Given the description of an element on the screen output the (x, y) to click on. 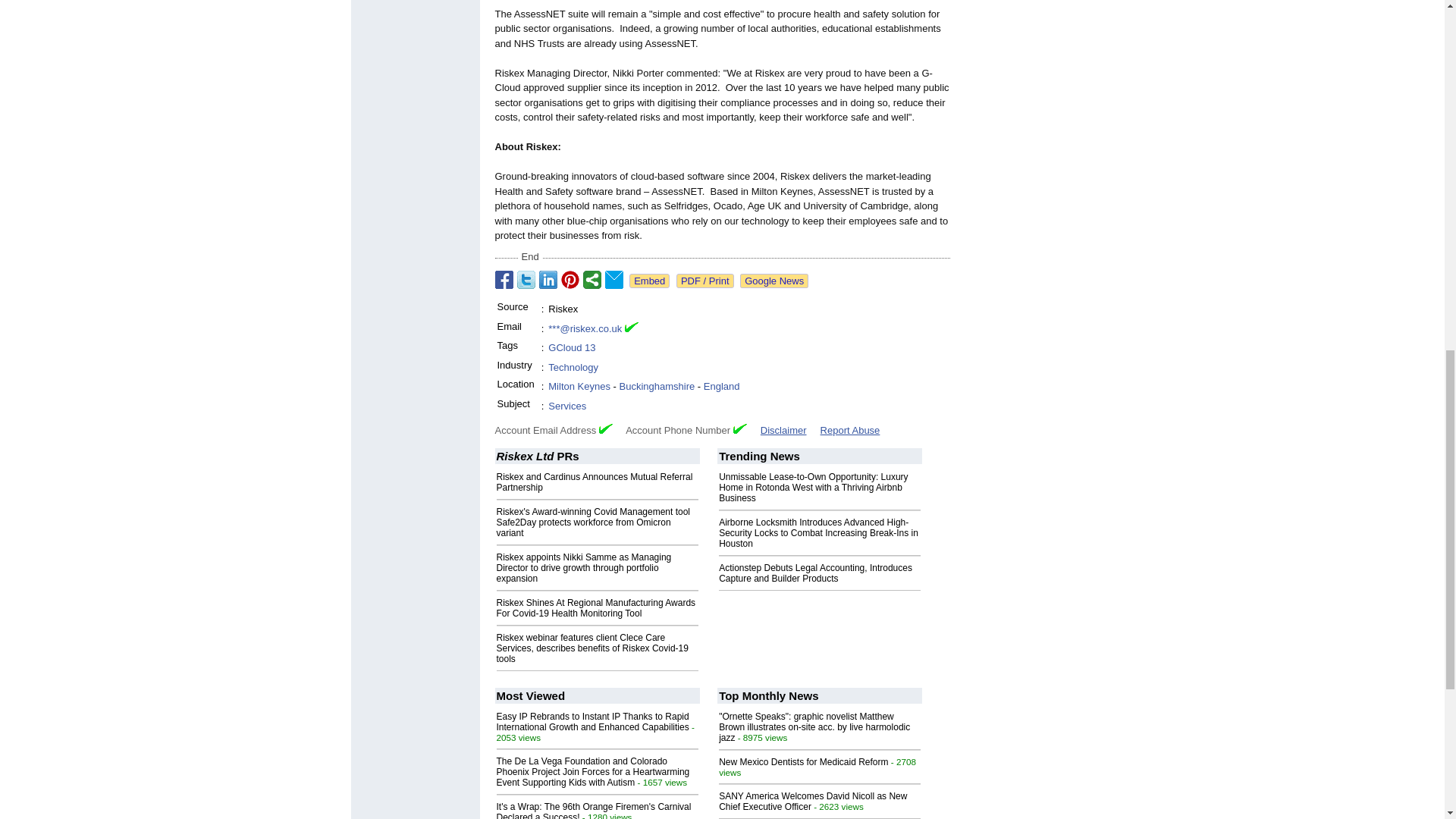
Share on LinkedIn (547, 280)
See or print the PDF version! (705, 280)
Verified (605, 429)
Share on StumbleUpon, Digg, etc (590, 280)
Share on Pinterest (569, 280)
Verified (739, 429)
Email to a Friend (614, 280)
Share on Facebook (503, 280)
Embed this press release in your website! (648, 280)
